Given the description of an element on the screen output the (x, y) to click on. 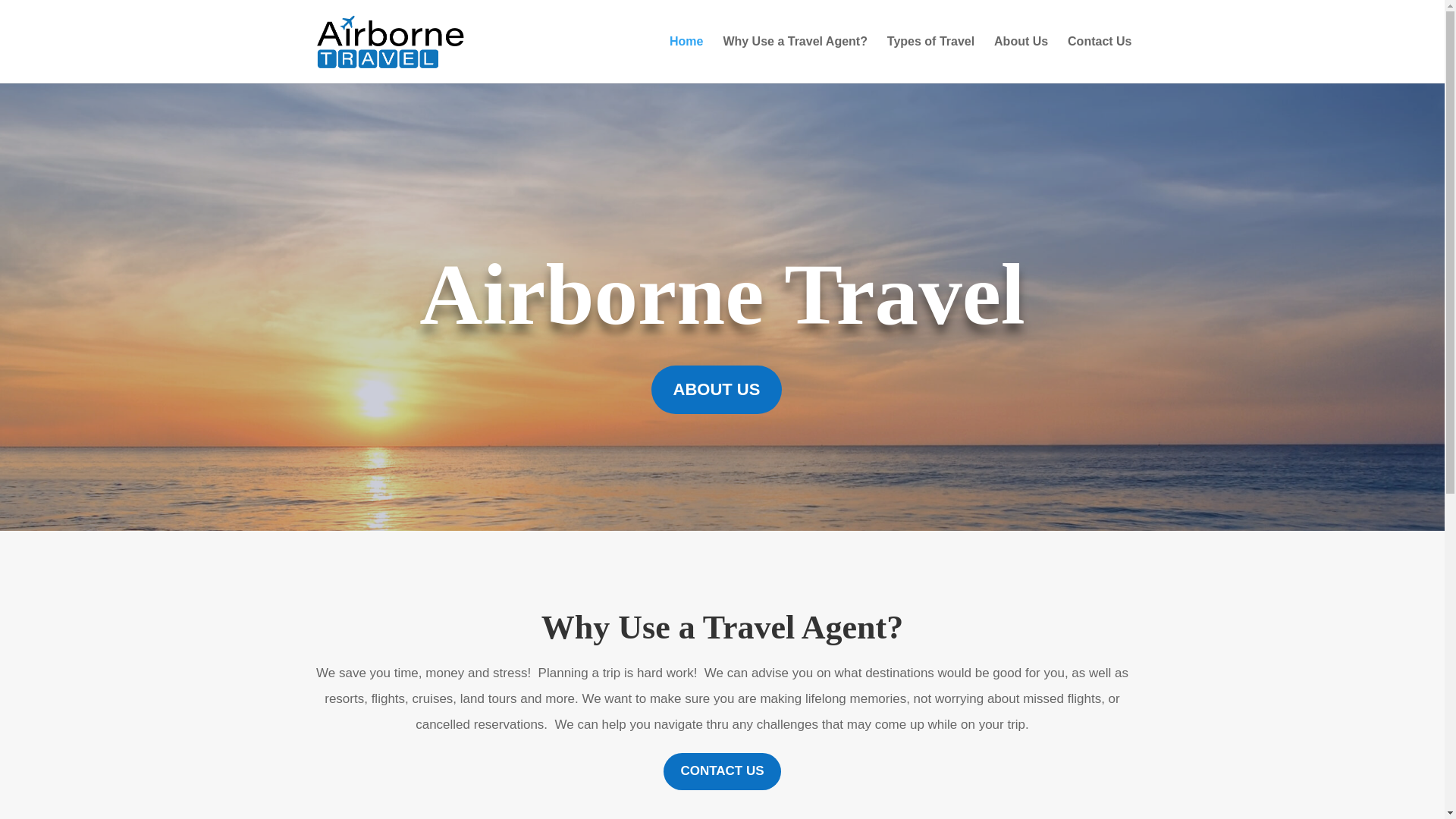
About Us (1021, 59)
Contact Us (1099, 59)
CONTACT US (721, 771)
ABOUT US (716, 389)
Types of Travel (930, 59)
Why Use a Travel Agent? (794, 59)
